Given the description of an element on the screen output the (x, y) to click on. 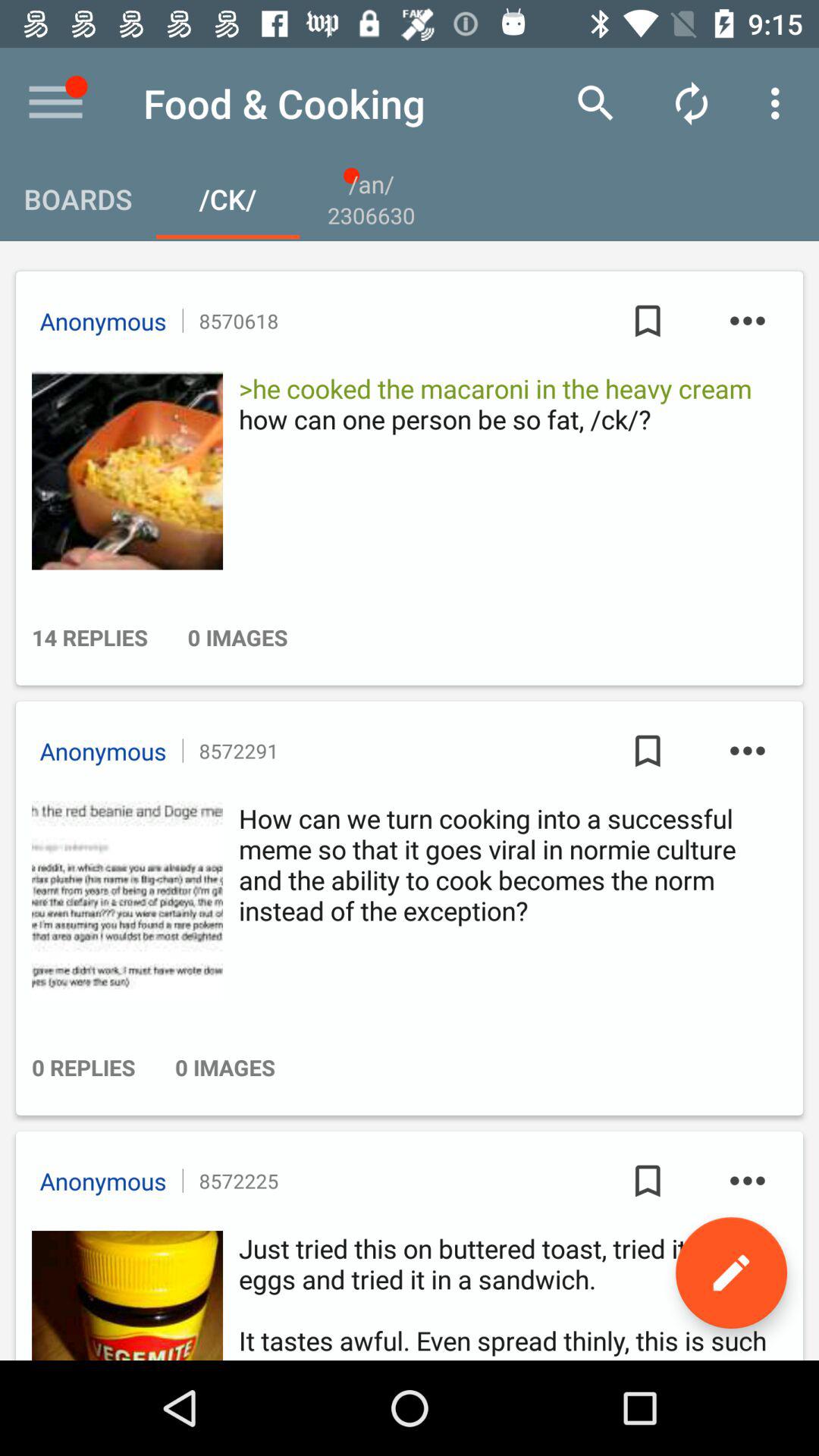
access menu (55, 103)
